Given the description of an element on the screen output the (x, y) to click on. 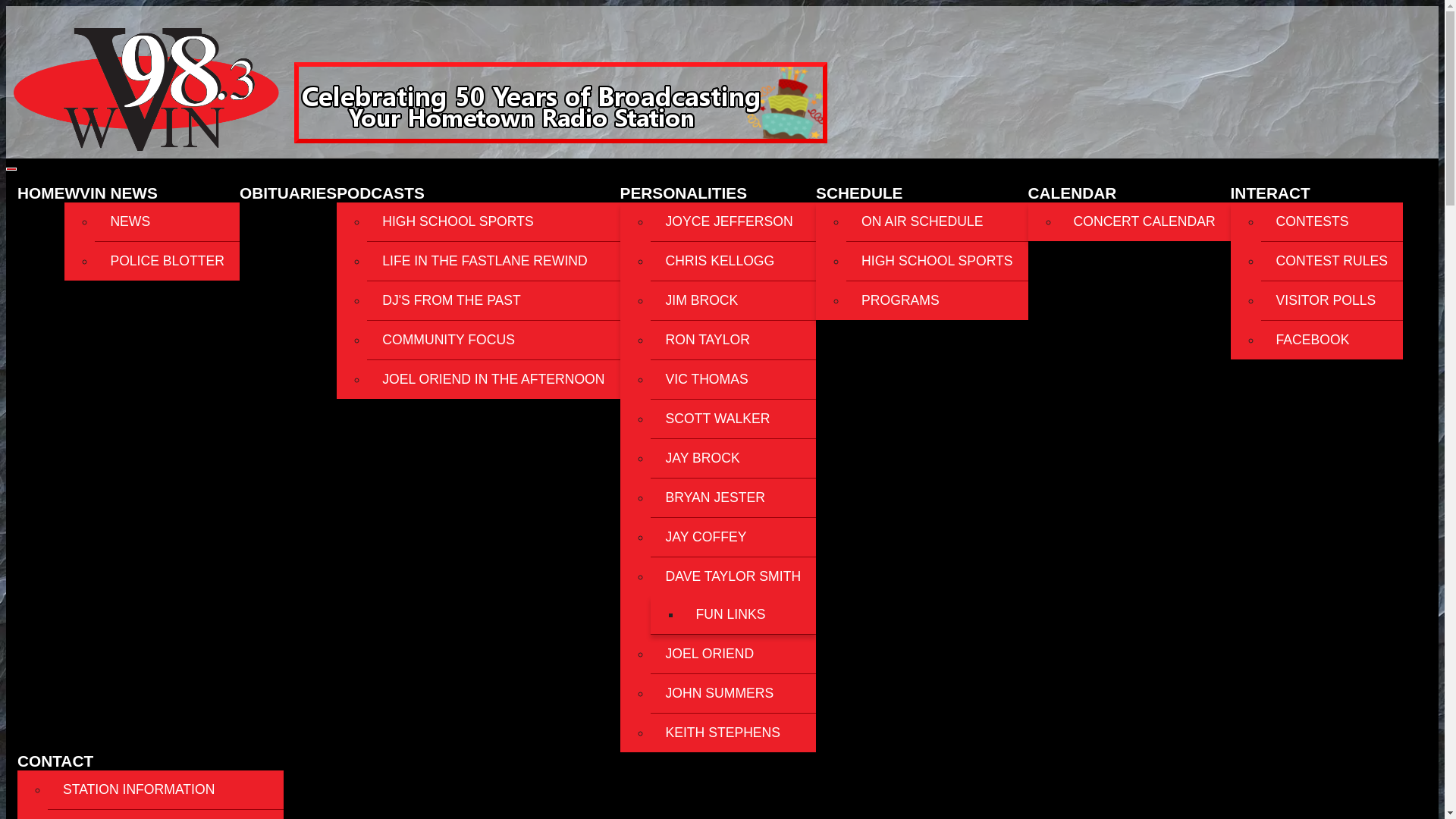
SCOTT WALKER (733, 418)
PODCASTS (380, 192)
JAY COFFEY (733, 536)
COMMUNITY FOCUS (493, 340)
CALENDAR (1071, 192)
BRYAN JESTER (733, 497)
CONTESTS (1331, 221)
NEWS (167, 221)
CONTEST RULES (1331, 260)
JOHN SUMMERS (733, 693)
RON TAYLOR (733, 340)
PROGRAMS (936, 300)
INTERACT (1270, 192)
OBITUARIES (288, 192)
POLICE BLOTTER (167, 260)
